Given the description of an element on the screen output the (x, y) to click on. 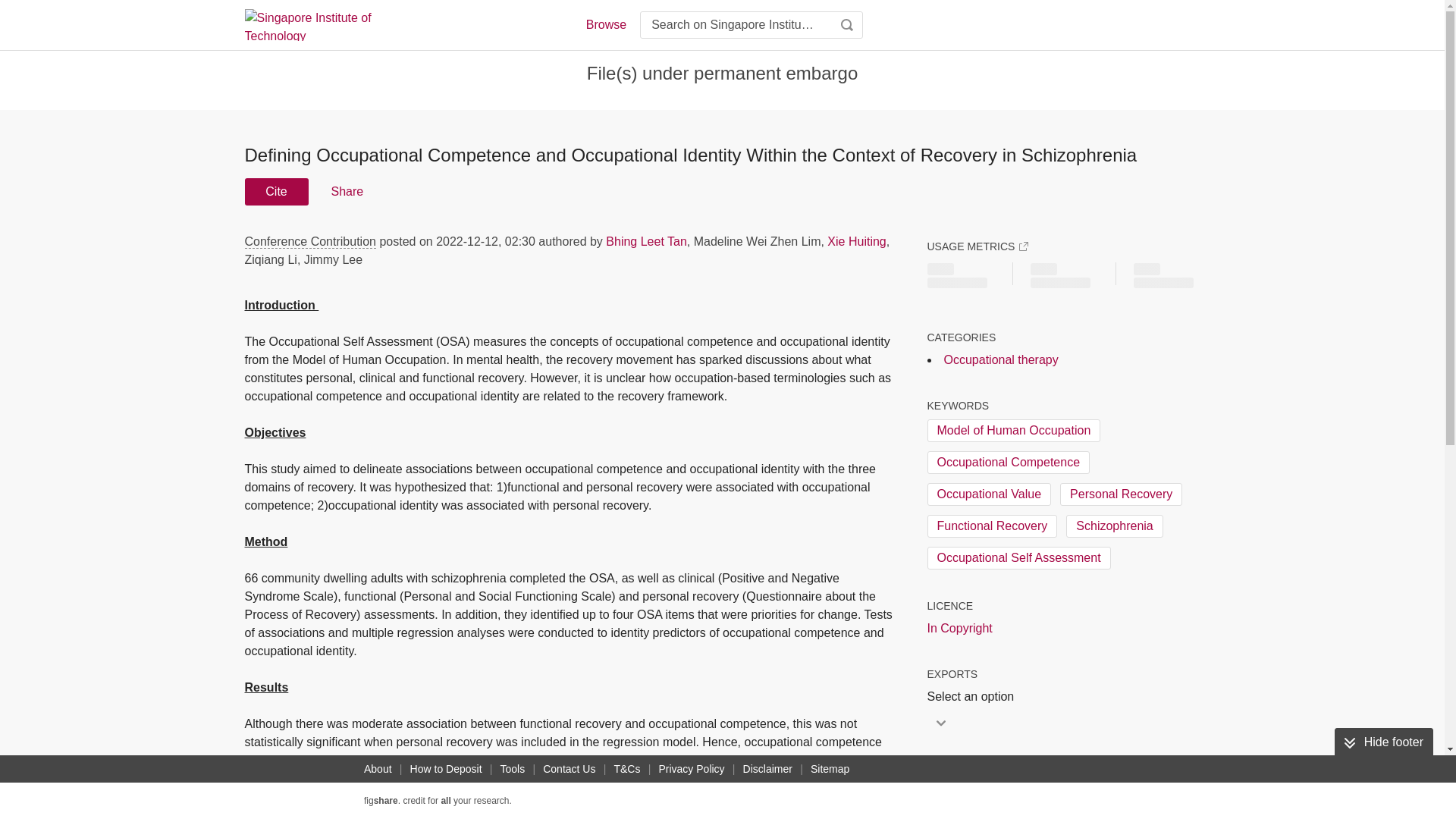
Browse (605, 24)
Hide footer (1383, 742)
In Copyright (958, 628)
Xie Huiting (856, 241)
Disclaimer (767, 769)
Functional Recovery (991, 526)
Share (346, 191)
Privacy Policy (691, 769)
Cite (275, 191)
About (377, 769)
Select an option (974, 696)
Tools (512, 769)
Occupational Self Assessment (1017, 558)
Occupational Value (988, 494)
Contact Us (568, 769)
